Given the description of an element on the screen output the (x, y) to click on. 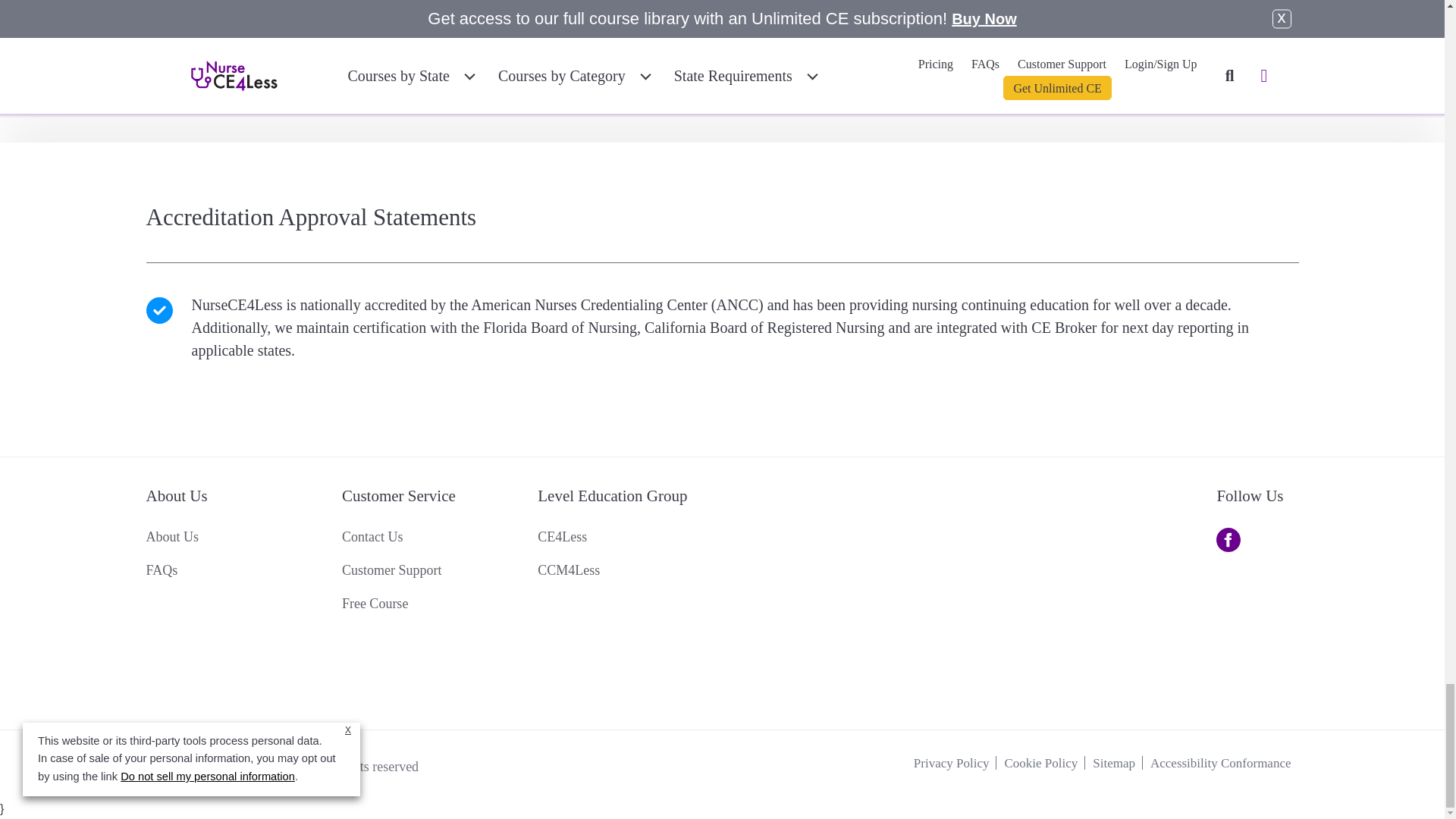
facebook-square (1227, 539)
